Given the description of an element on the screen output the (x, y) to click on. 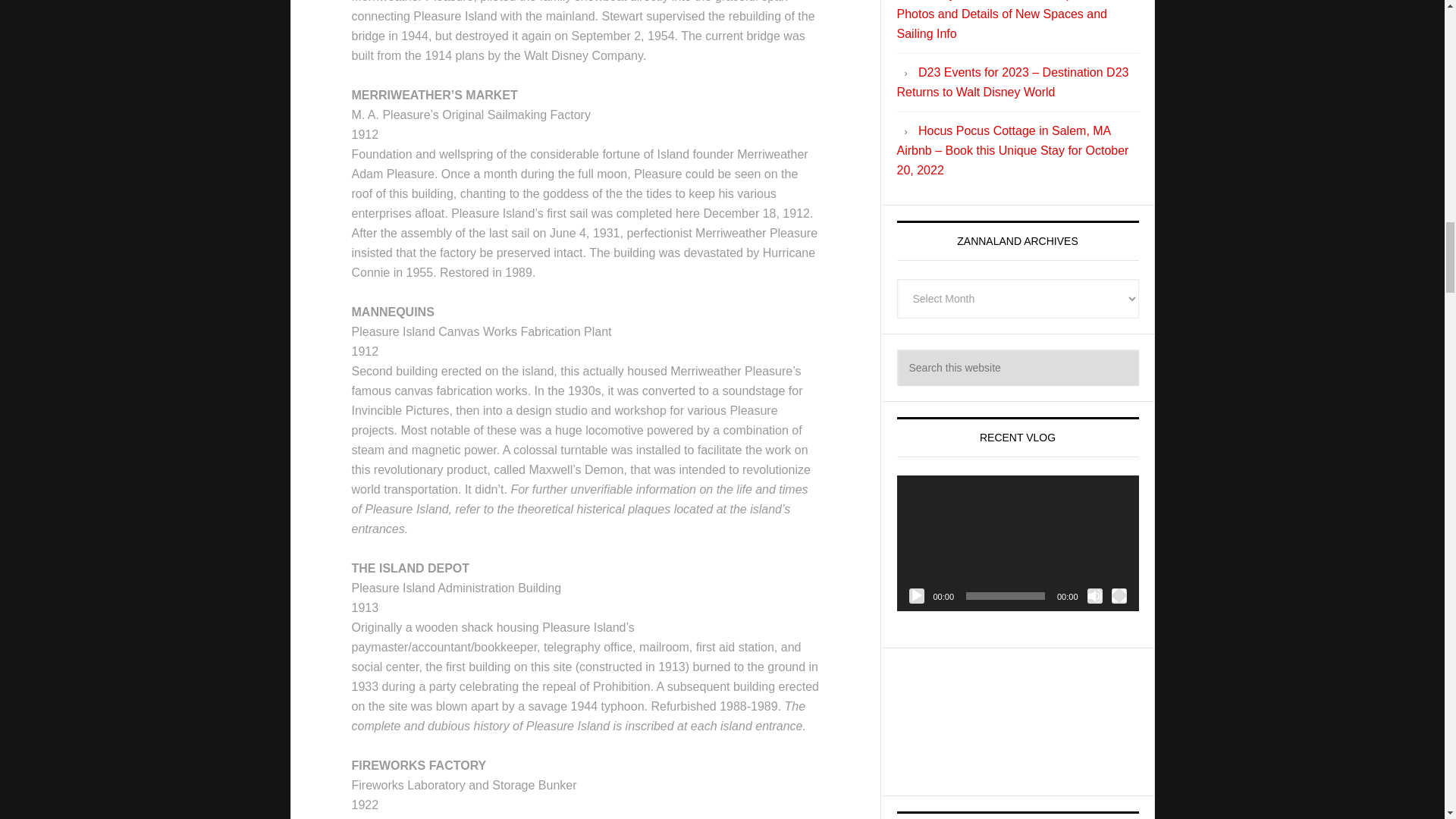
Mute (1094, 595)
Fullscreen (1119, 595)
Play (915, 595)
